Given the description of an element on the screen output the (x, y) to click on. 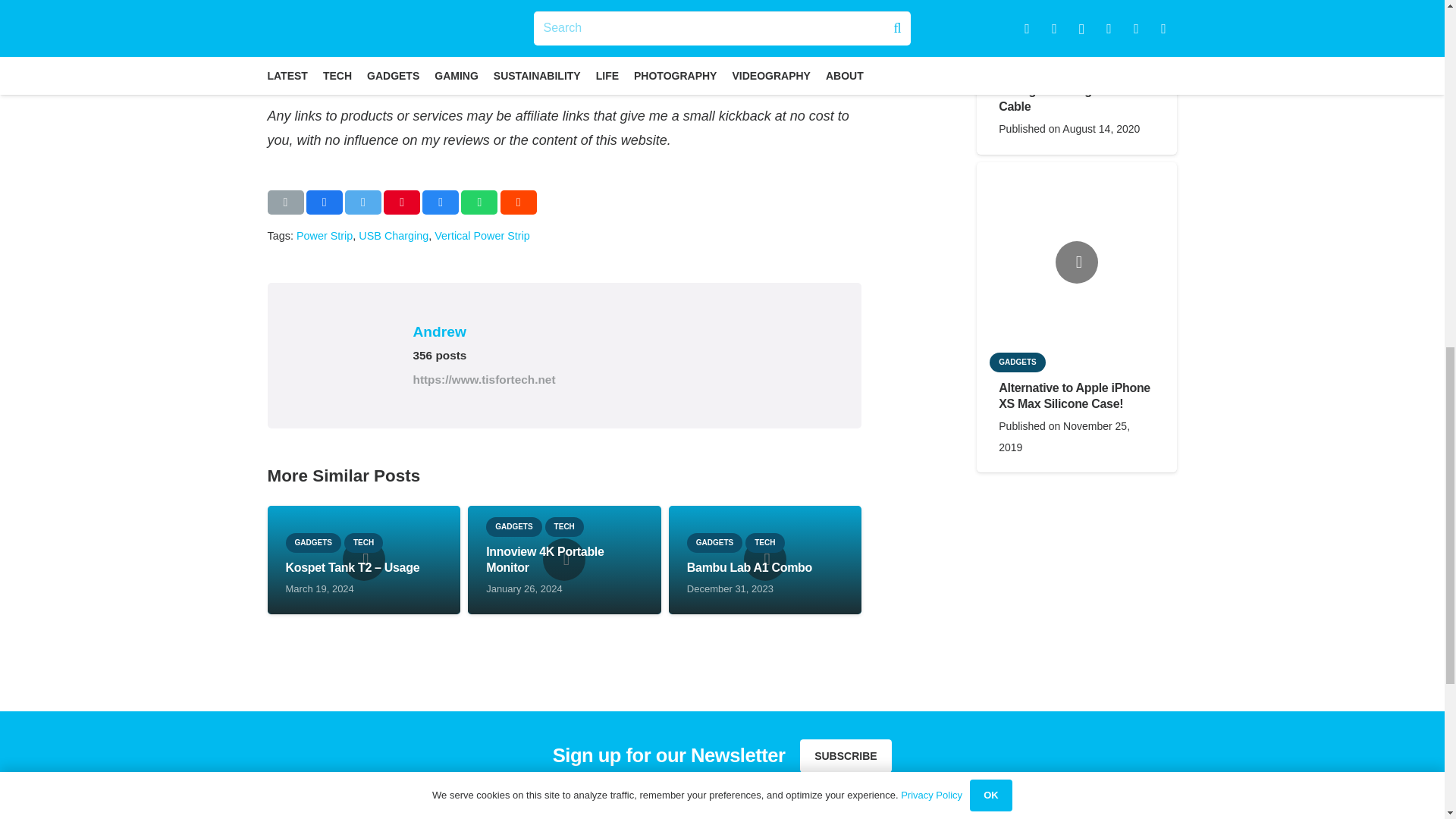
Vertical Power Strip (481, 235)
GADGETS (312, 542)
Pin this (402, 202)
Email this (284, 202)
Share this (518, 202)
USB Charging (393, 235)
Power Strip (324, 235)
Share this (440, 202)
Tweet this (363, 202)
TECH (362, 542)
